Given the description of an element on the screen output the (x, y) to click on. 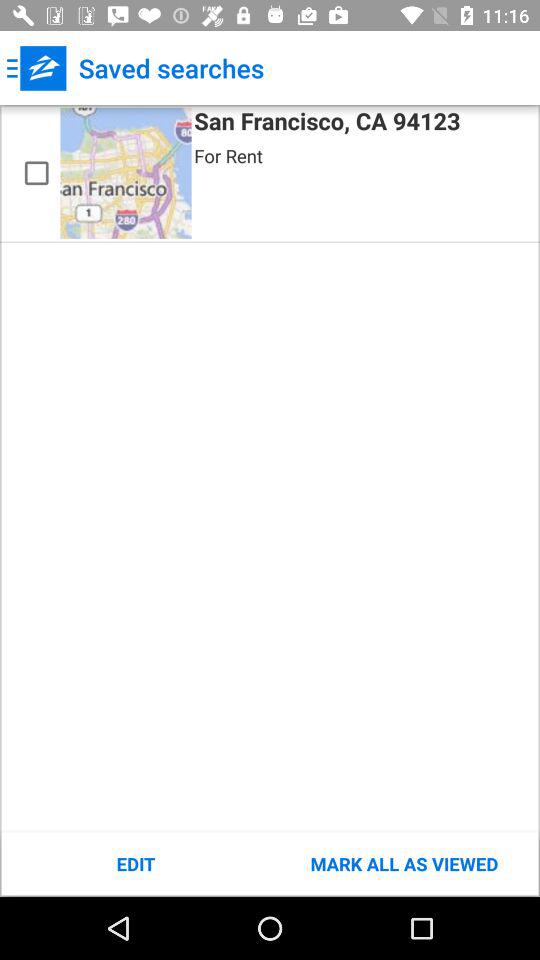
select item (36, 173)
